Given the description of an element on the screen output the (x, y) to click on. 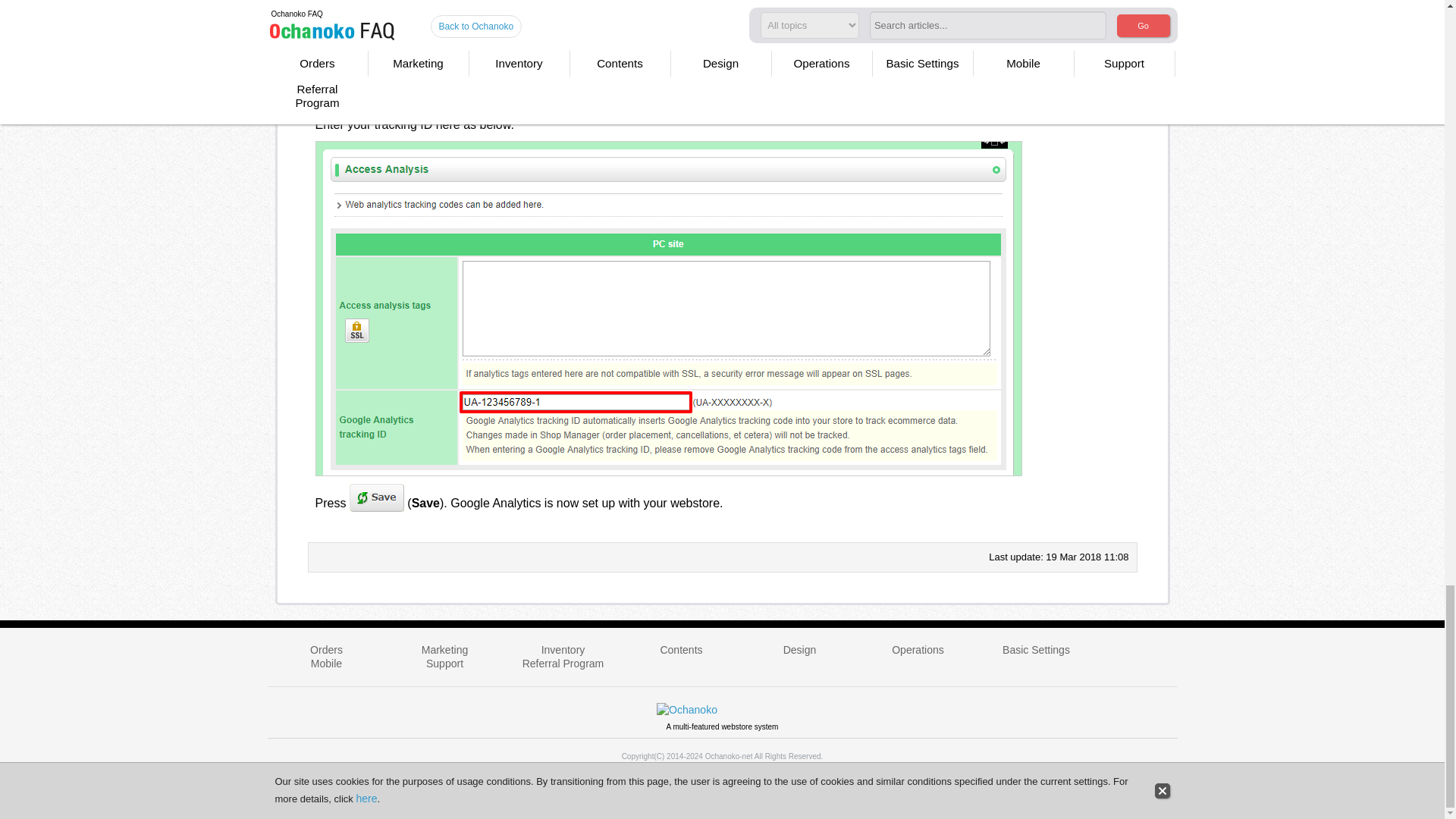
Basic Settings (1035, 649)
Orders (325, 649)
Referral Program (562, 663)
Support (444, 663)
Inventory (562, 649)
Mobile (325, 663)
Design (799, 649)
Contents (680, 649)
Operations (917, 649)
Marketing (444, 649)
